Given the description of an element on the screen output the (x, y) to click on. 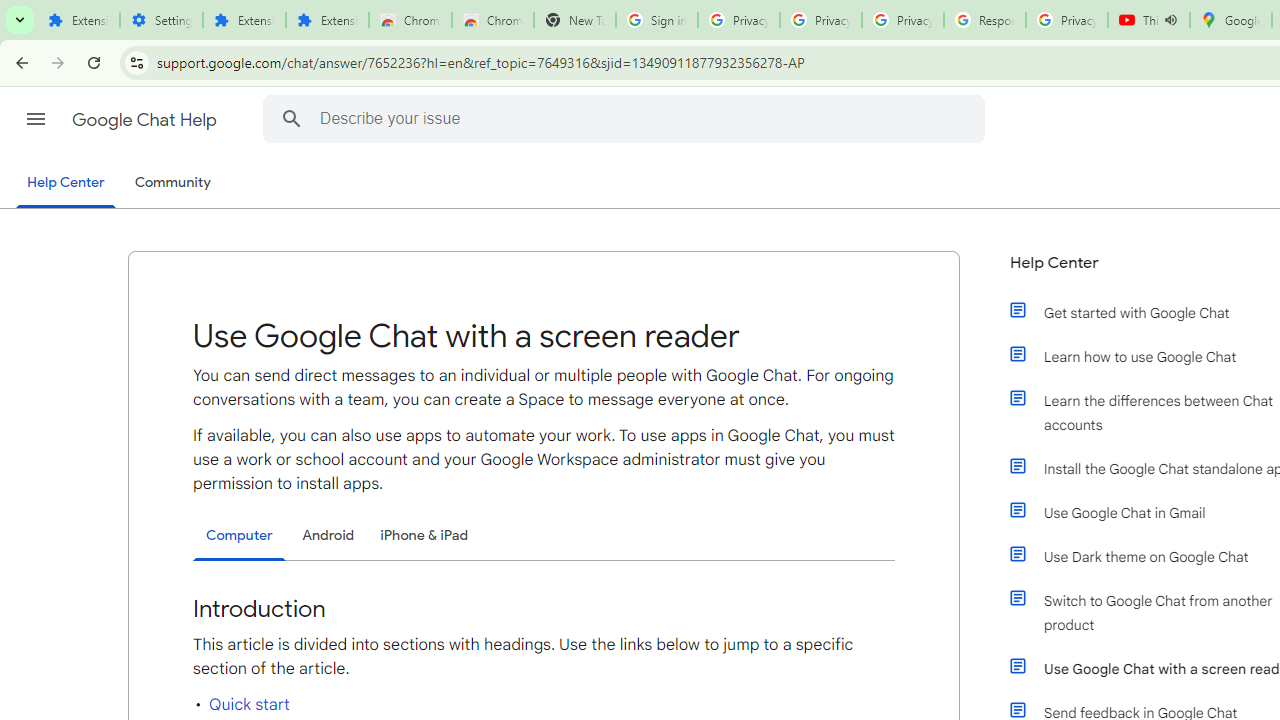
Google Chat Help (146, 119)
Android (328, 534)
